Given the description of an element on the screen output the (x, y) to click on. 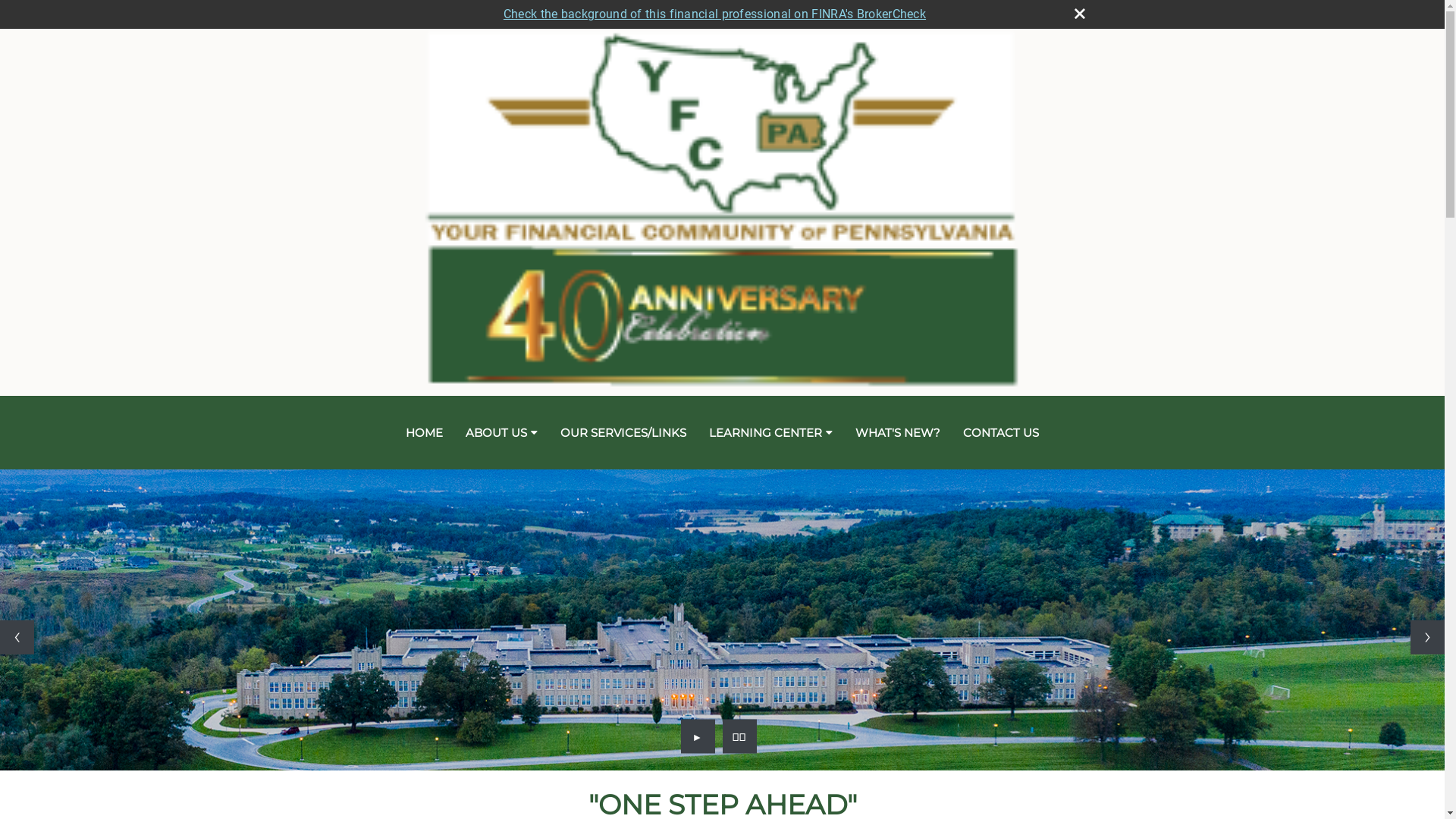
LEARNING CENTER Element type: text (770, 432)
CONTACT US Element type: text (1000, 432)
WHAT'S NEW? Element type: text (897, 432)
HOME Element type: text (424, 432)
OUR SERVICES/LINKS Element type: text (623, 432)
ABOUT US Element type: text (501, 432)
